Given the description of an element on the screen output the (x, y) to click on. 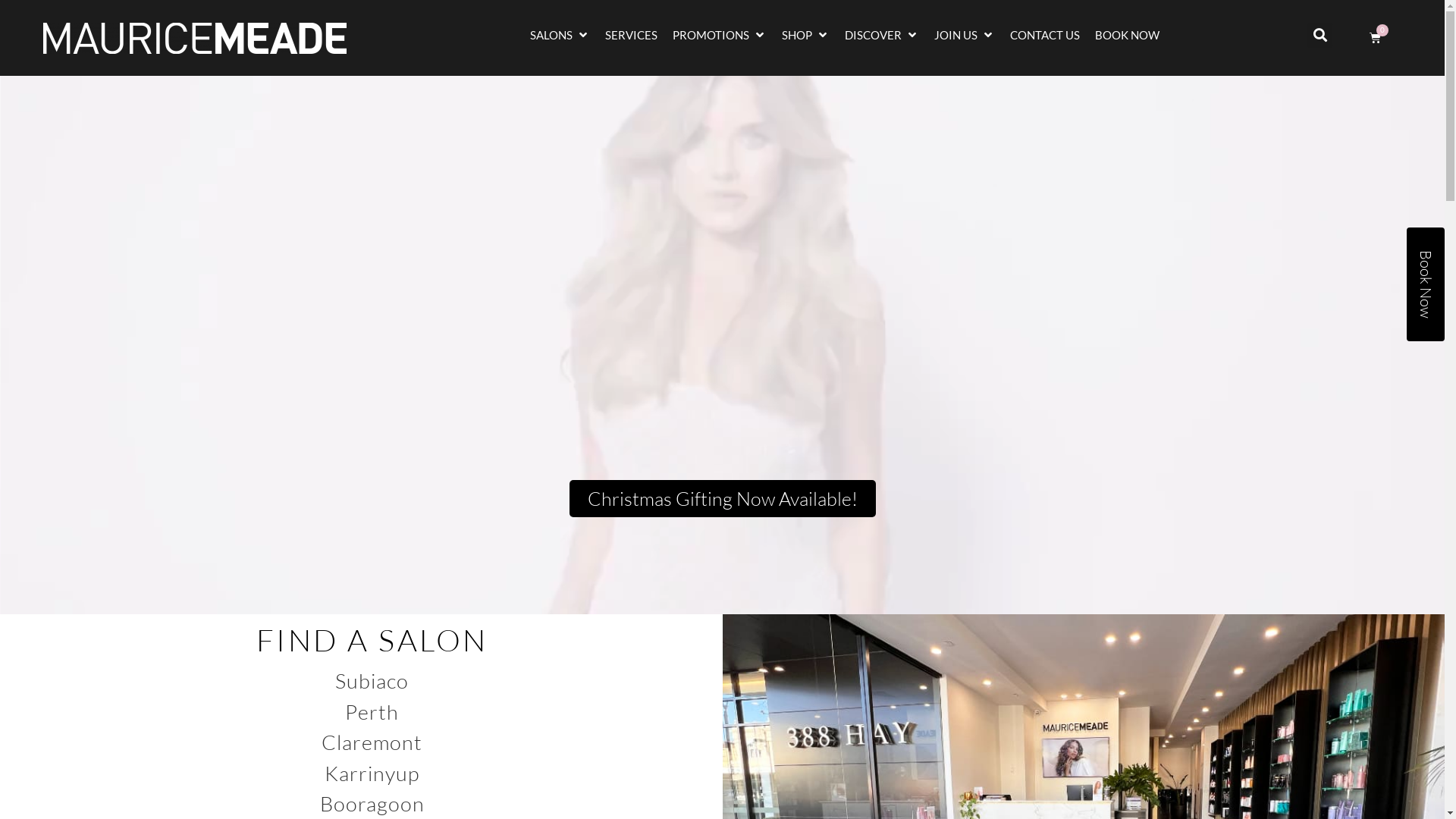
Booragoon Element type: text (372, 802)
BOOK NOW Element type: text (1127, 34)
Claremont Element type: text (371, 741)
SERVICES Element type: text (631, 34)
JOIN US Element type: text (955, 34)
FIND A SALON Element type: text (372, 639)
CONTACT US Element type: text (1044, 34)
Subiaco Element type: text (371, 680)
SHOP Element type: text (796, 34)
Christmas Gifting Now Available! Element type: text (721, 498)
PROMOTIONS Element type: text (710, 34)
0 Element type: text (1375, 37)
rsz_r0jmkzhs Element type: hover (194, 37)
Karrinyup Element type: text (371, 771)
SALONS Element type: text (551, 34)
DISCOVER Element type: text (872, 34)
Perth Element type: text (371, 711)
